Given the description of an element on the screen output the (x, y) to click on. 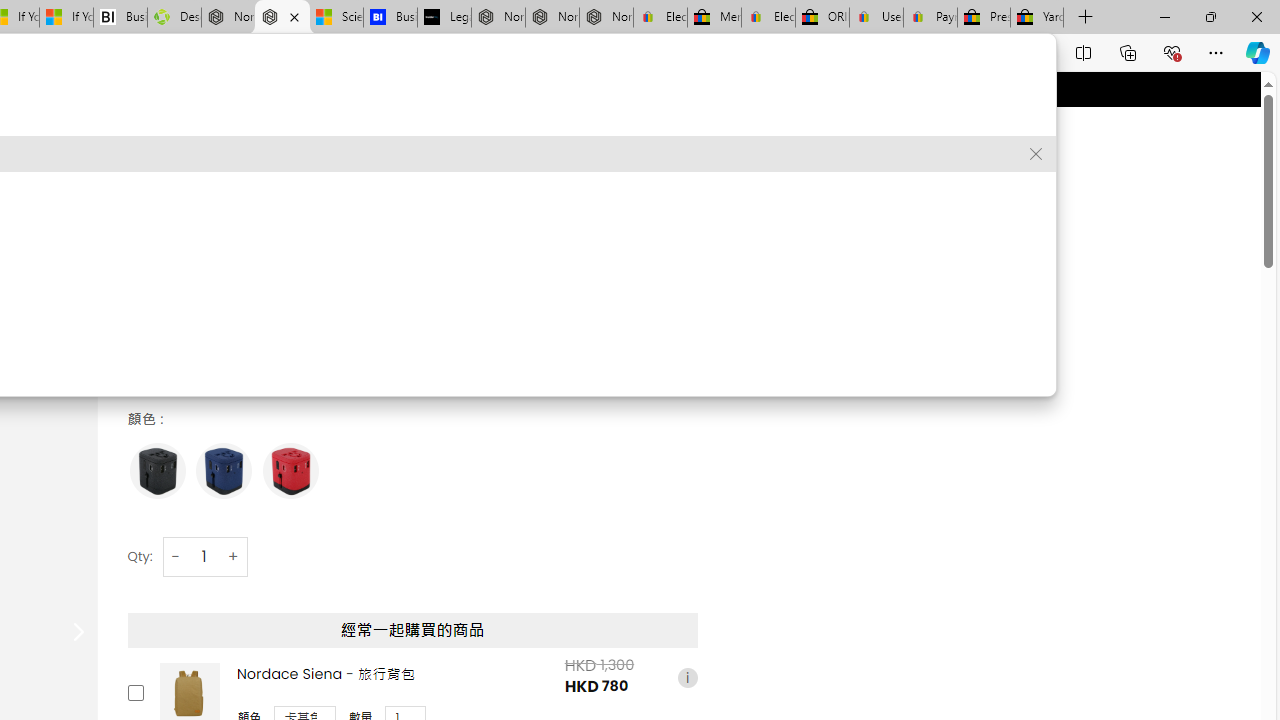
- (175, 555)
